Given the description of an element on the screen output the (x, y) to click on. 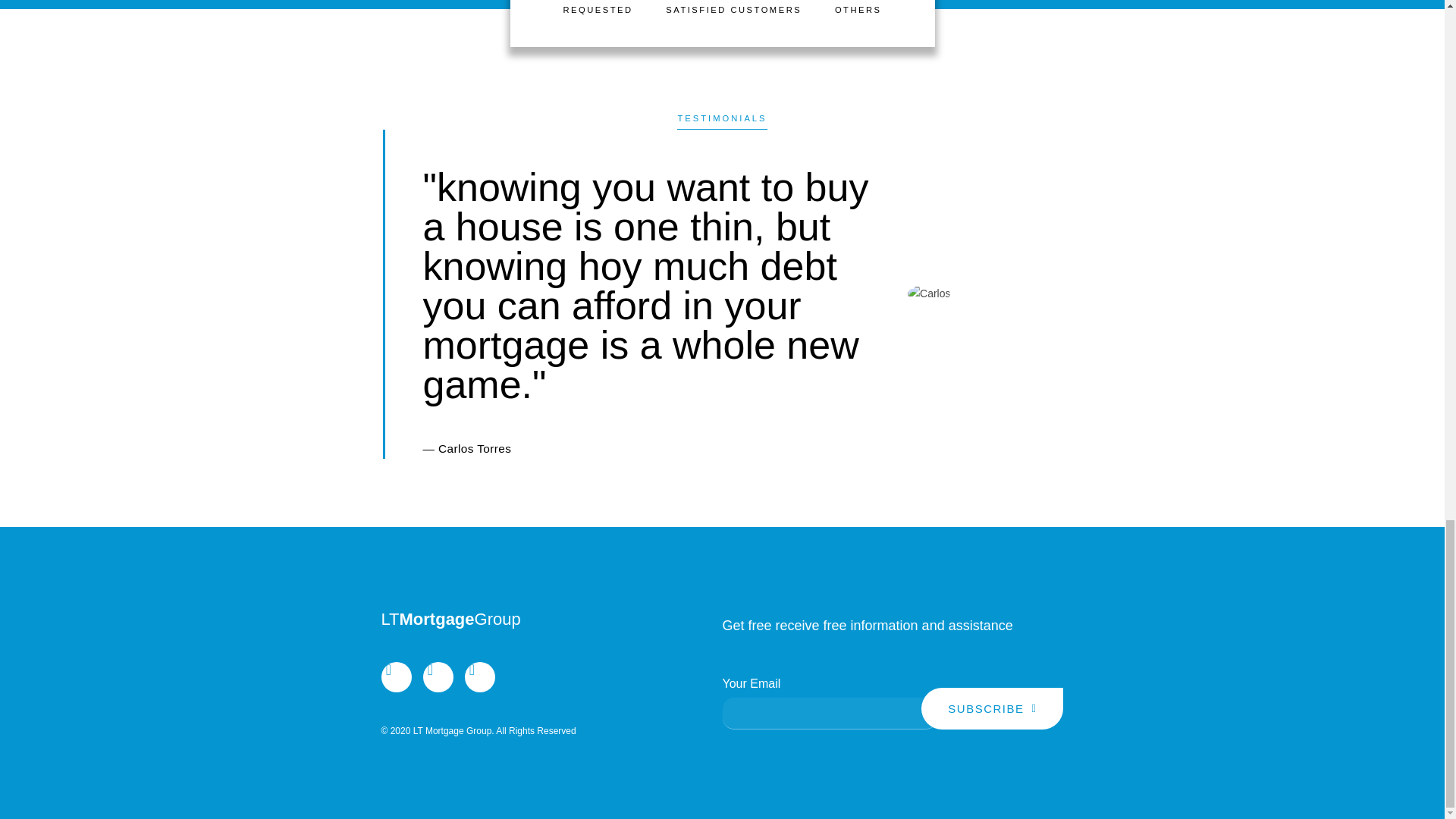
Carlos (928, 293)
SUBSCRIBE (991, 708)
LTMortgageGroup (449, 618)
